Given the description of an element on the screen output the (x, y) to click on. 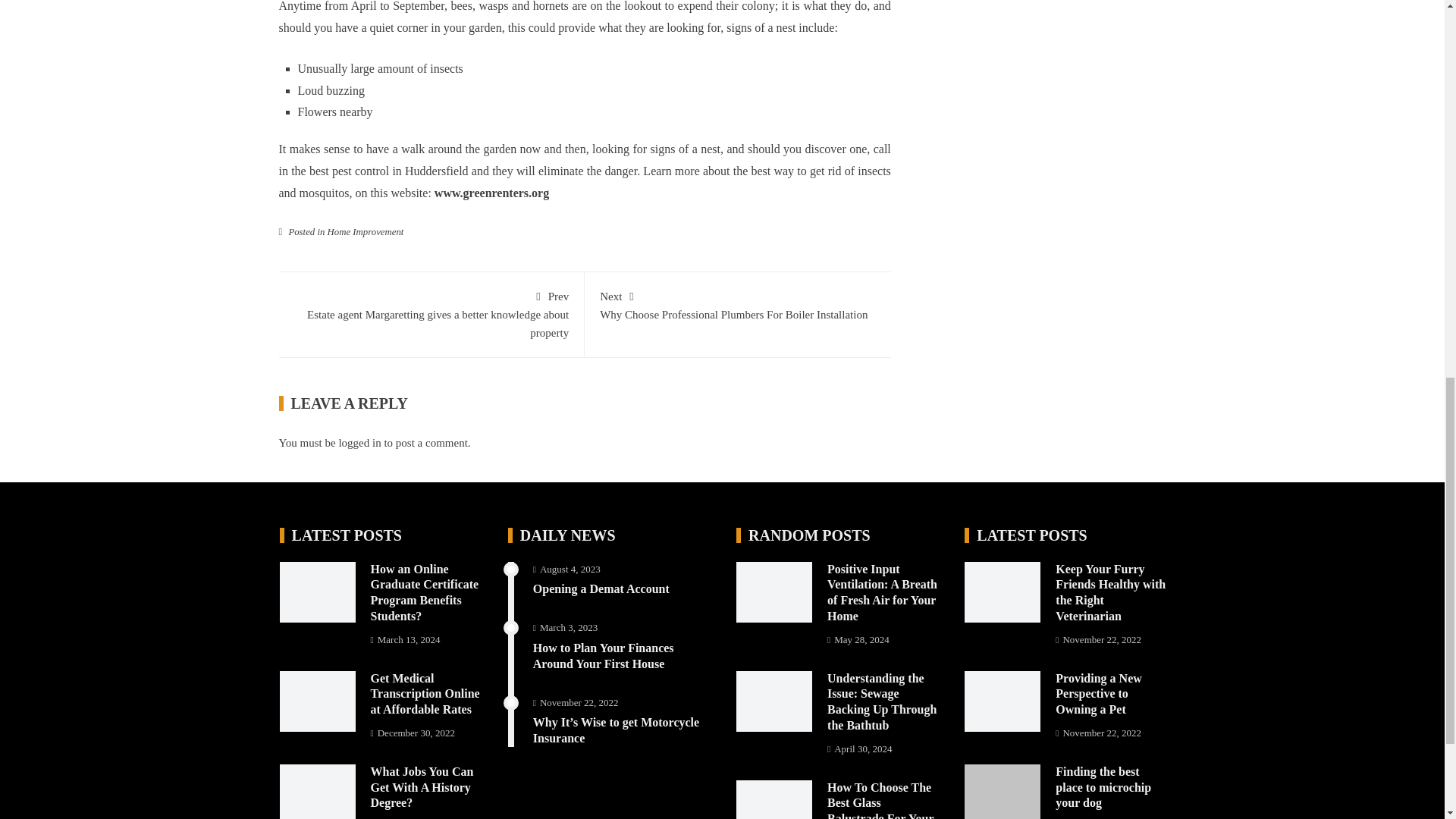
logged in (358, 442)
Home Improvement (365, 231)
www.greenrenters.org (490, 192)
call in the best pest control in Huddersfield (585, 159)
